Given the description of an element on the screen output the (x, y) to click on. 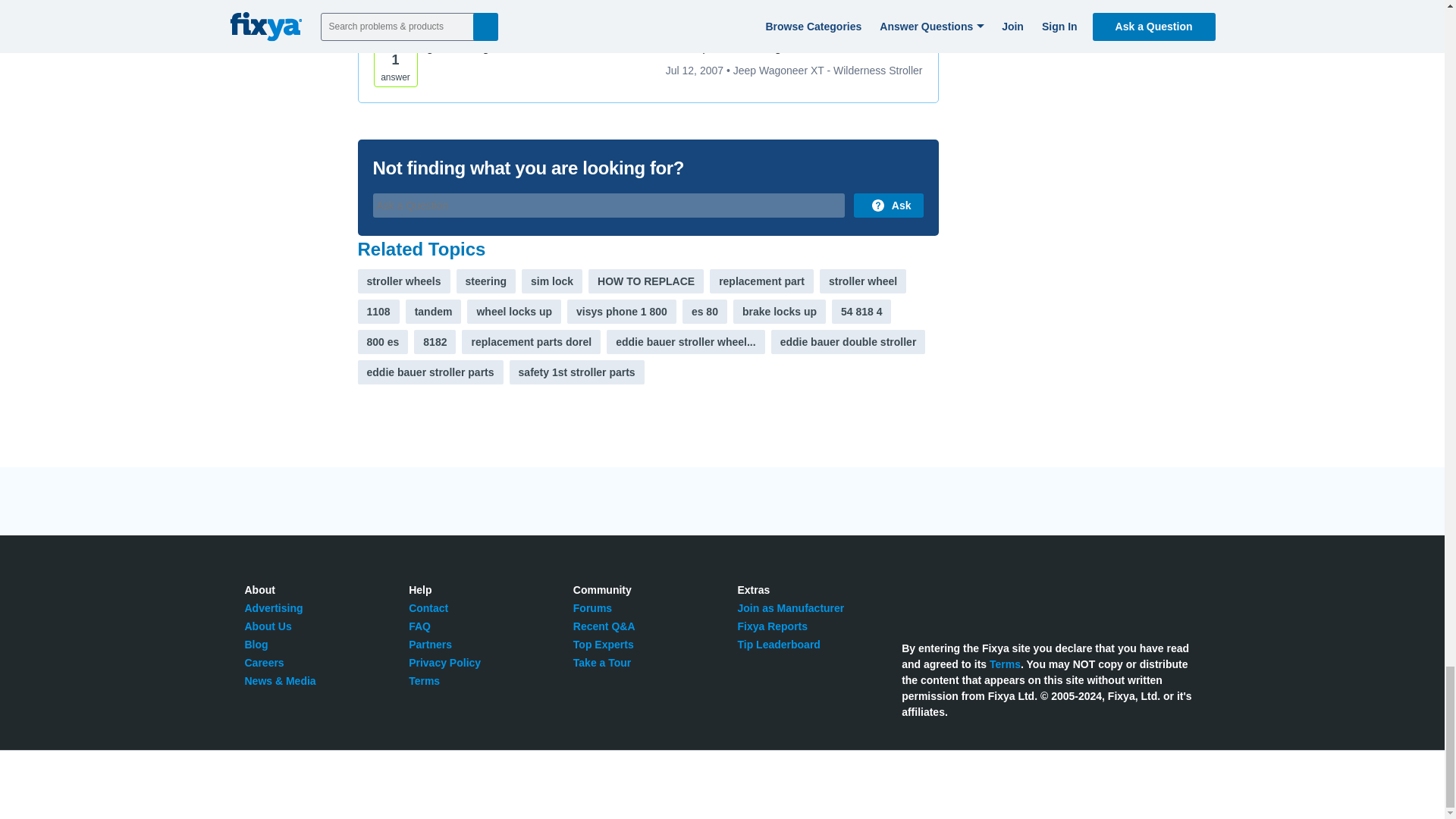
Ask (888, 205)
